Given the description of an element on the screen output the (x, y) to click on. 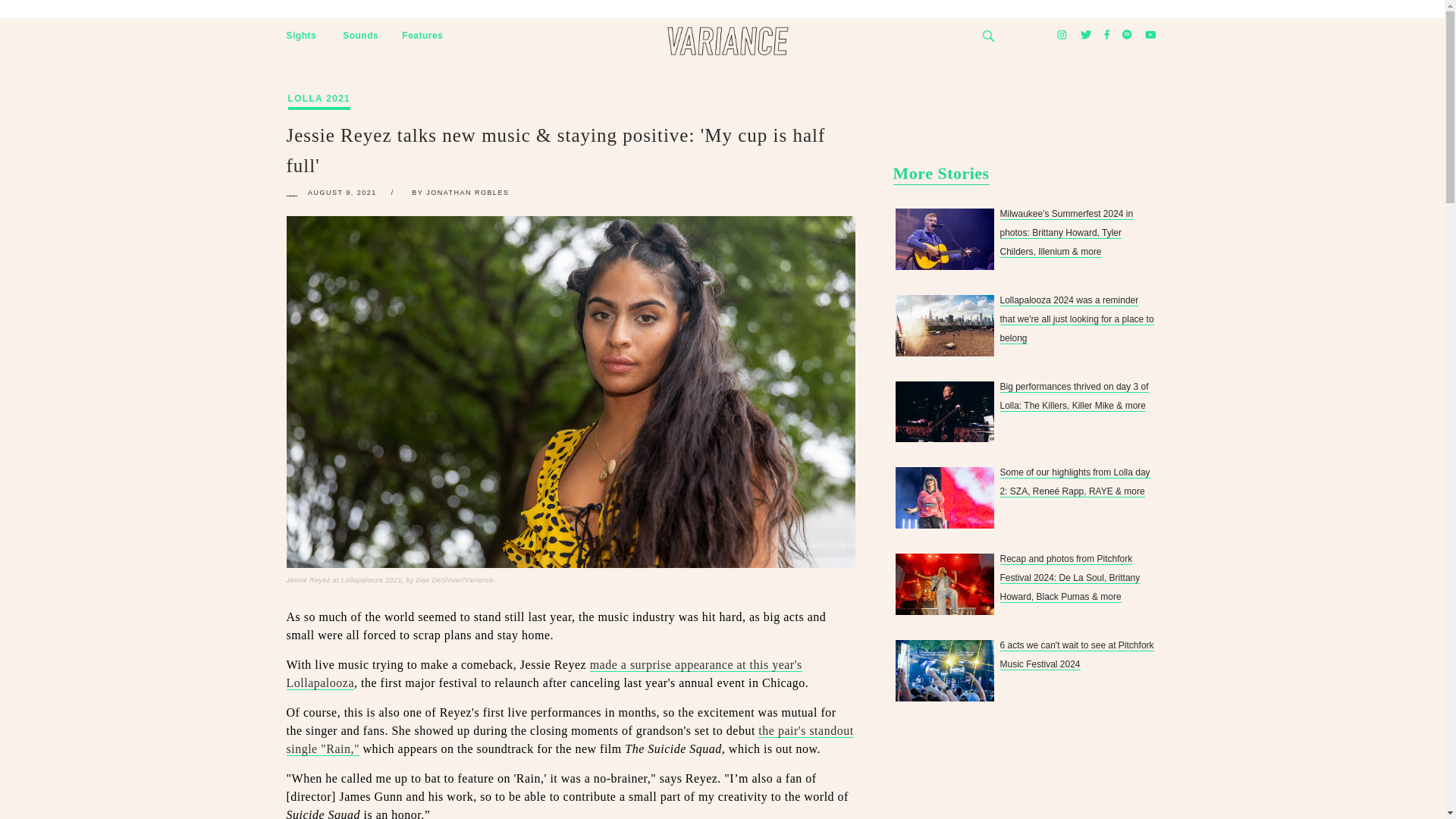
the pair's standout single "Rain," (569, 739)
LOLLA 2021 (319, 83)
Features (421, 36)
Sights (301, 36)
made a surprise appearance at this year's Lollapalooza (544, 674)
Sounds (360, 36)
